Given the description of an element on the screen output the (x, y) to click on. 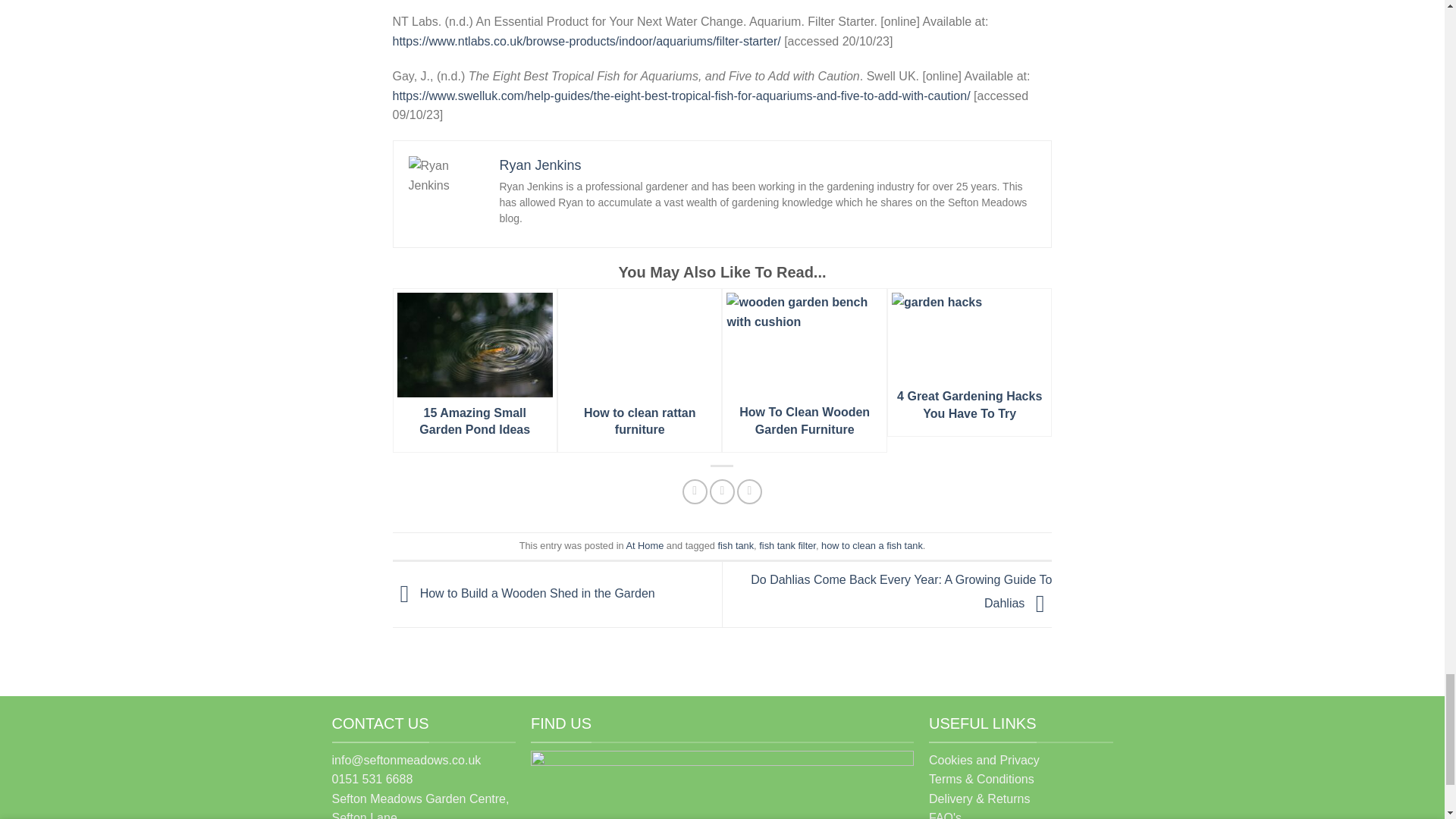
4 Great Gardening Hacks You Have To Try (968, 361)
15 Amazing Small Garden Pond Ideas (475, 370)
Share on Twitter (722, 491)
How To Clean Wooden Garden Furniture (804, 370)
Share on Facebook (694, 491)
Email to a Friend (748, 491)
How to clean rattan furniture (639, 370)
